Given the description of an element on the screen output the (x, y) to click on. 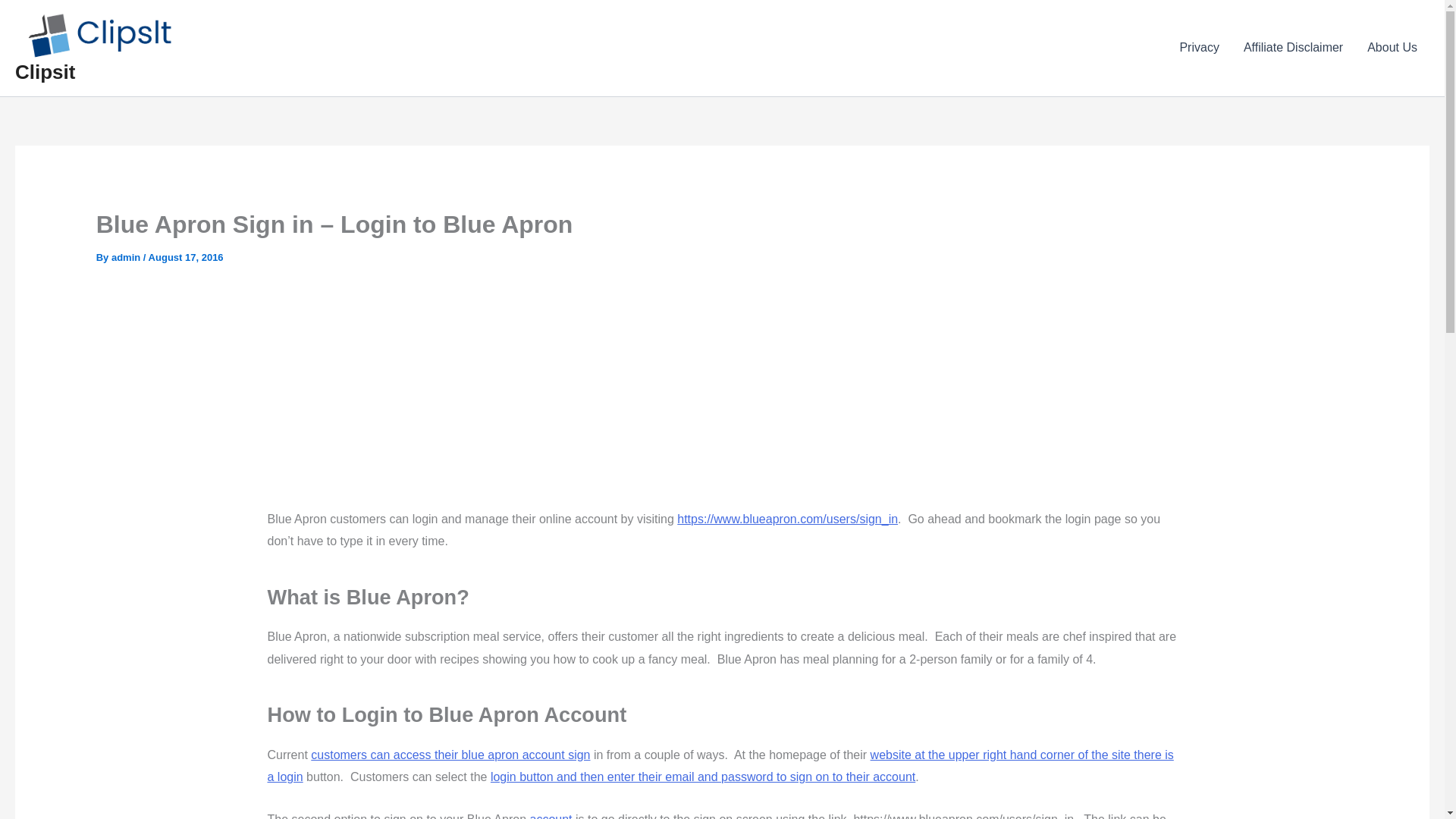
Clipsit (44, 71)
About Us (1392, 47)
Privacy (1198, 47)
Affiliate Disclaimer (1293, 47)
account (550, 816)
customers can access their blue apron account sign (450, 754)
View all posts by admin (127, 256)
admin (127, 256)
